Given the description of an element on the screen output the (x, y) to click on. 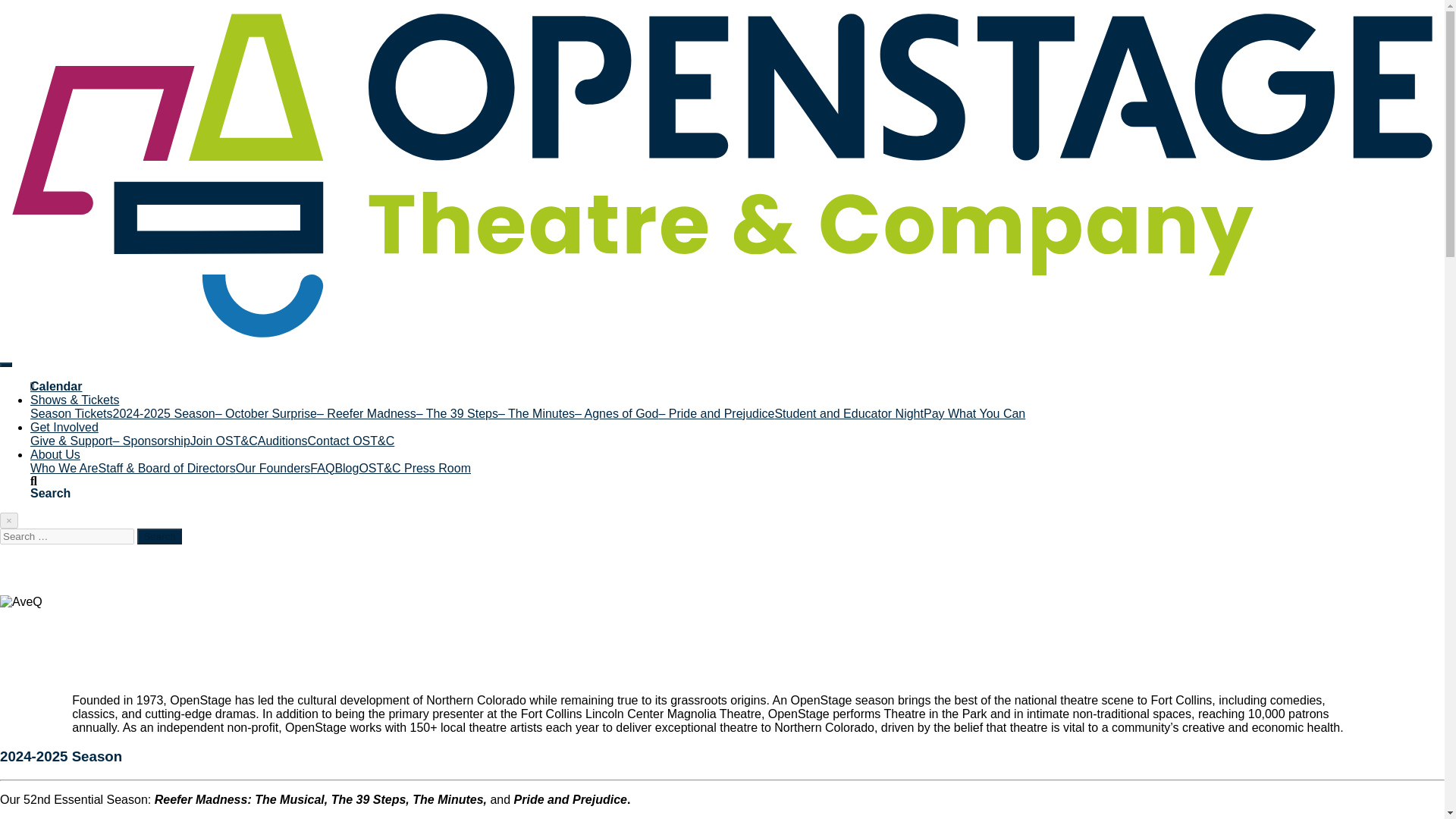
Calendar (55, 386)
Season Tickets (71, 413)
Student and Educator Night (848, 413)
- Reefer Madness (366, 413)
Search (158, 536)
Get Involved (64, 427)
Our Founders (273, 468)
- October Surprise (266, 413)
2024-2025 Season (163, 413)
Pay What You Can (974, 413)
